Given the description of an element on the screen output the (x, y) to click on. 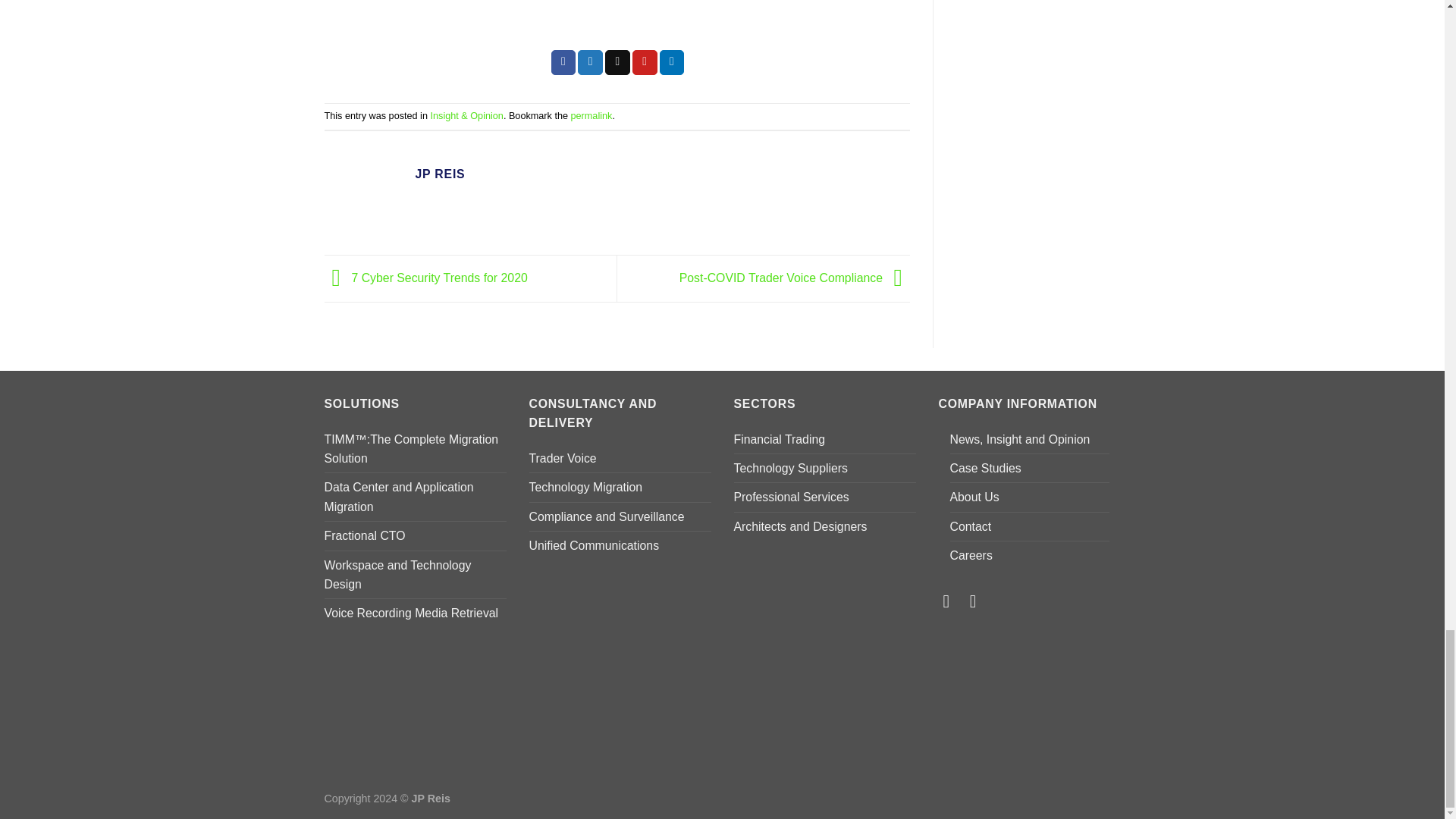
Share on Facebook (563, 62)
Pin on Pinterest (644, 62)
Post-COVID Trader Voice Compliance (794, 277)
Share on LinkedIn (671, 62)
Permalink to Business Continuity and COVID-19 (591, 115)
Email to a Friend (617, 62)
permalink (591, 115)
7 Cyber Security Trends for 2020 (425, 277)
Share on Twitter (590, 62)
Follow on LinkedIn (978, 600)
Follow on Twitter (951, 600)
